Given the description of an element on the screen output the (x, y) to click on. 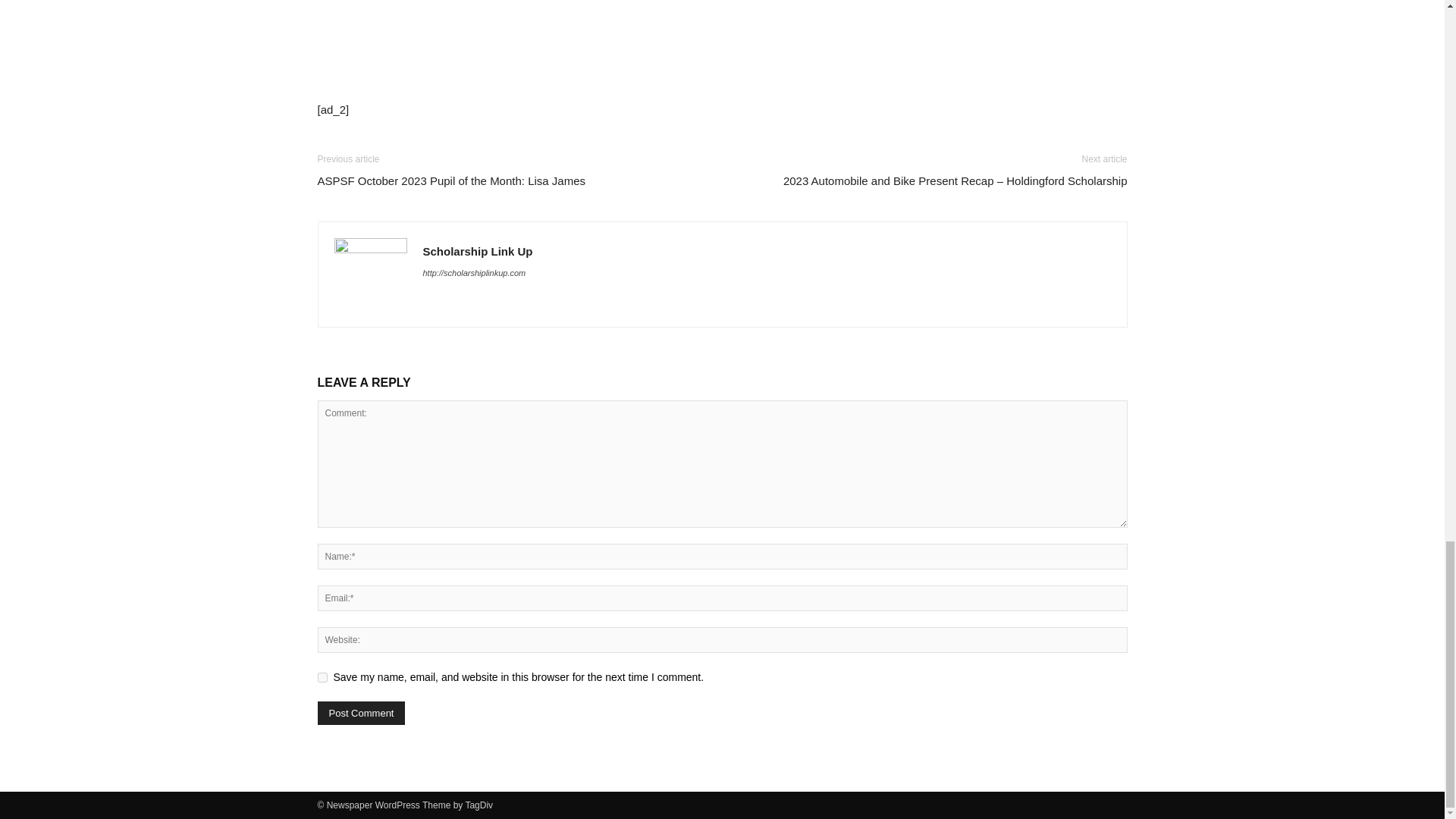
Scholarship Link Up (477, 250)
Post Comment (360, 712)
yes (321, 677)
ASPSF October 2023 Pupil of the Month: Lisa James (451, 180)
Post Comment (360, 712)
